Given the description of an element on the screen output the (x, y) to click on. 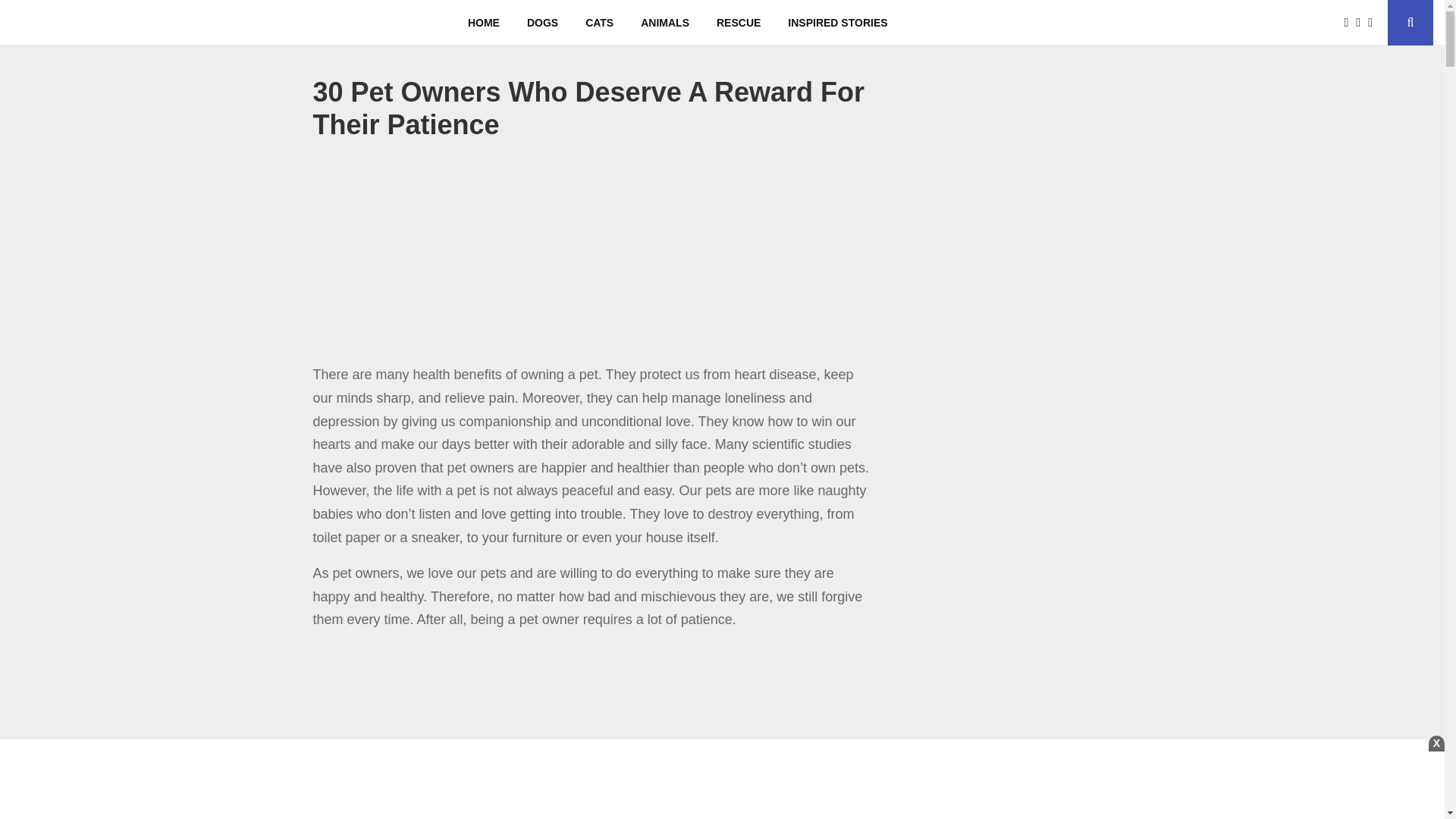
RESCUE (738, 22)
CATS (599, 22)
HOME (483, 22)
DOGS (542, 22)
ANIMALS (665, 22)
INSPIRED STORIES (837, 22)
